Given the description of an element on the screen output the (x, y) to click on. 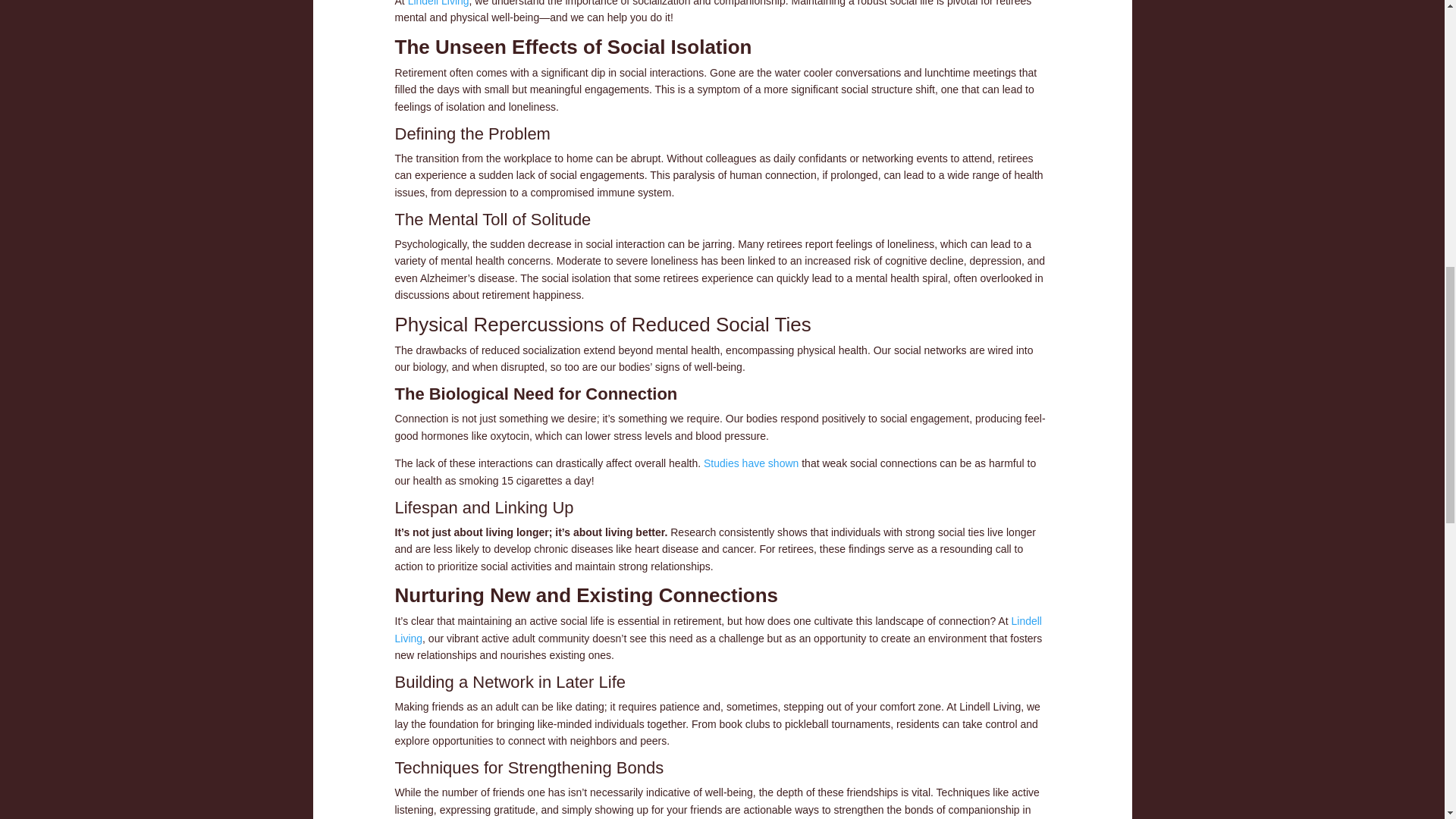
Lindell Living (437, 3)
Lindell Living (717, 629)
Studies have shown (750, 463)
